Given the description of an element on the screen output the (x, y) to click on. 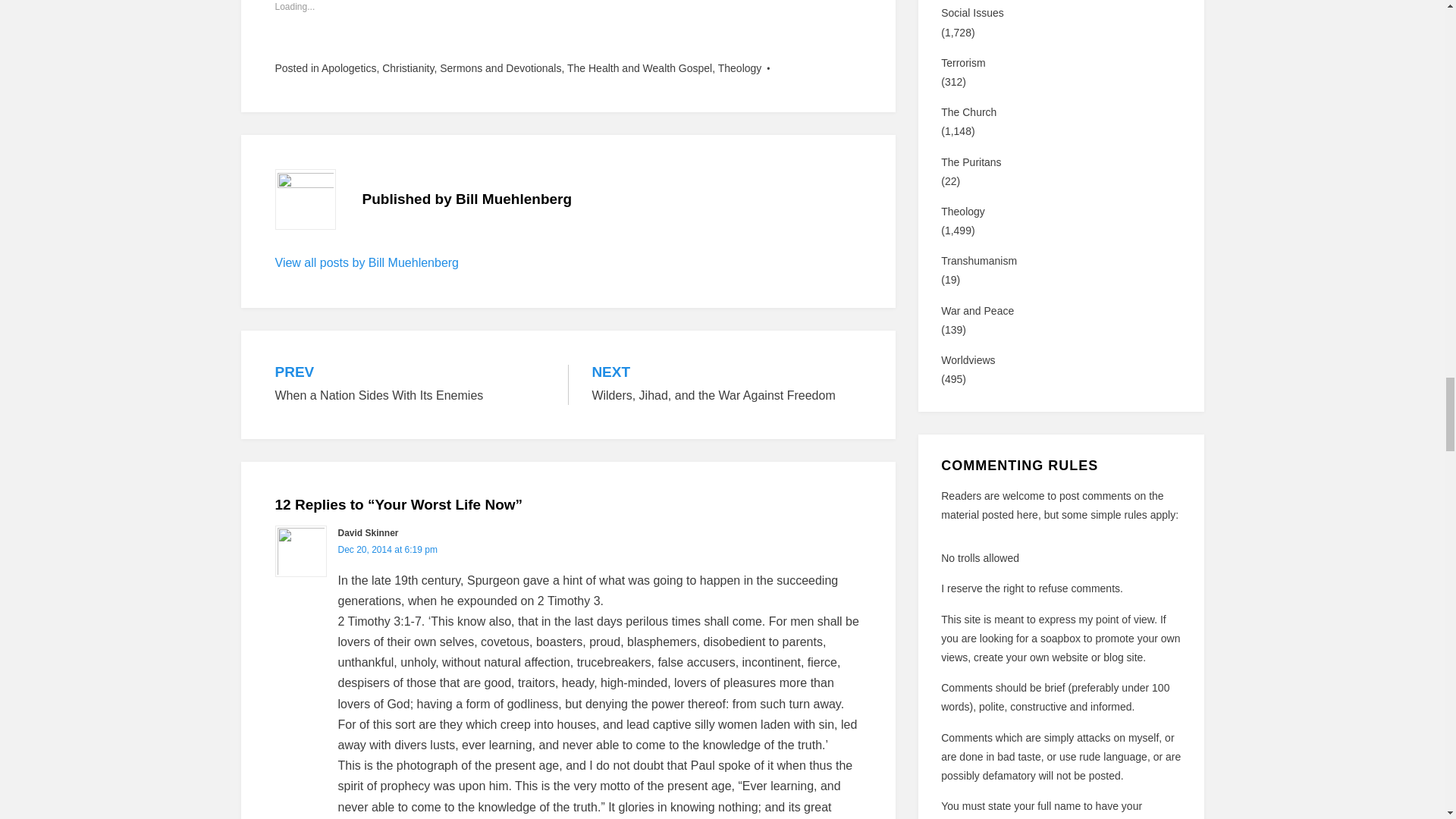
Christianity (407, 68)
Apologetics (348, 68)
